Given the description of an element on the screen output the (x, y) to click on. 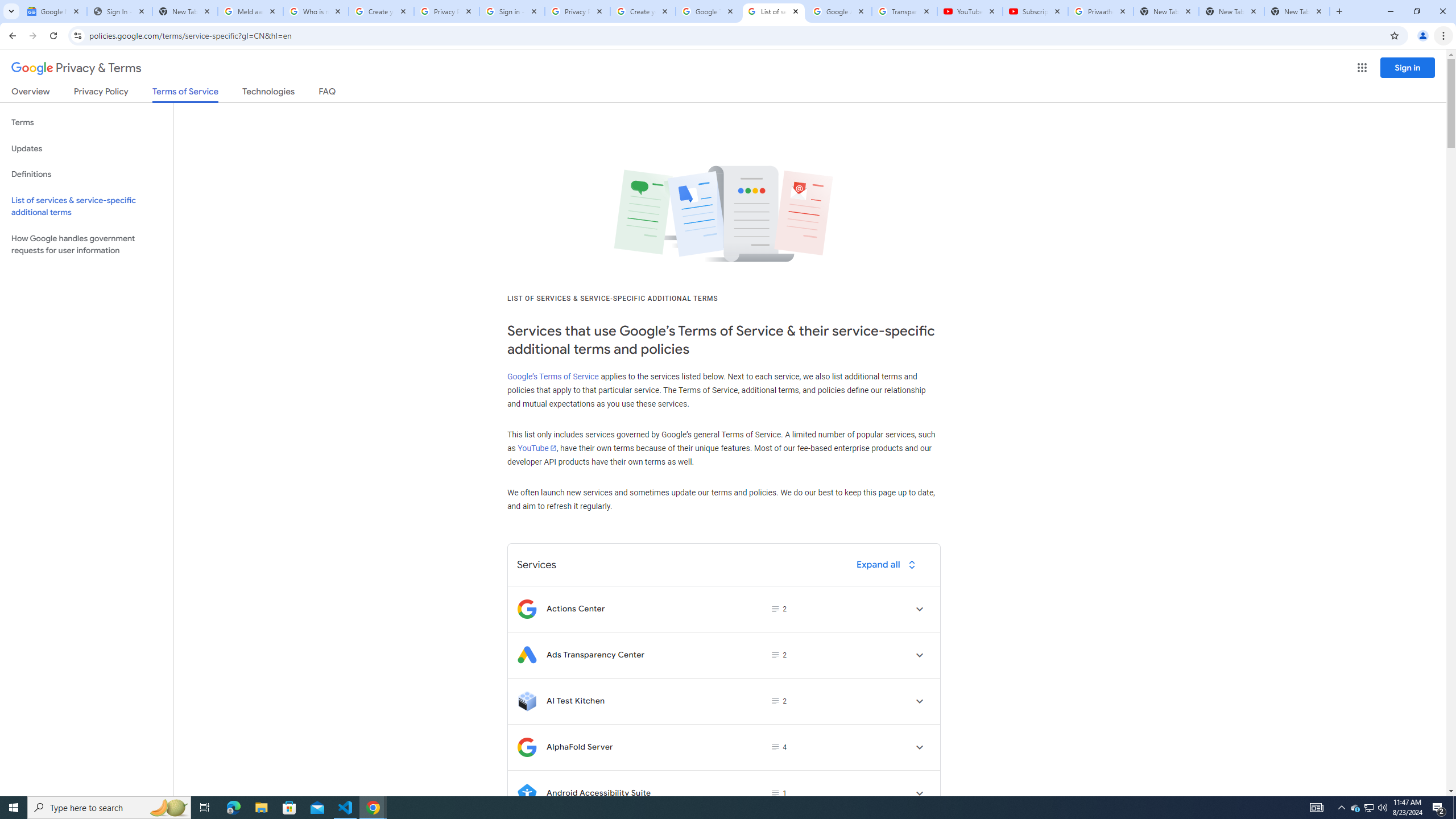
Create your Google Account (381, 11)
Google News (53, 11)
Logo for Actions Center (526, 608)
YouTube (969, 11)
